Given the description of an element on the screen output the (x, y) to click on. 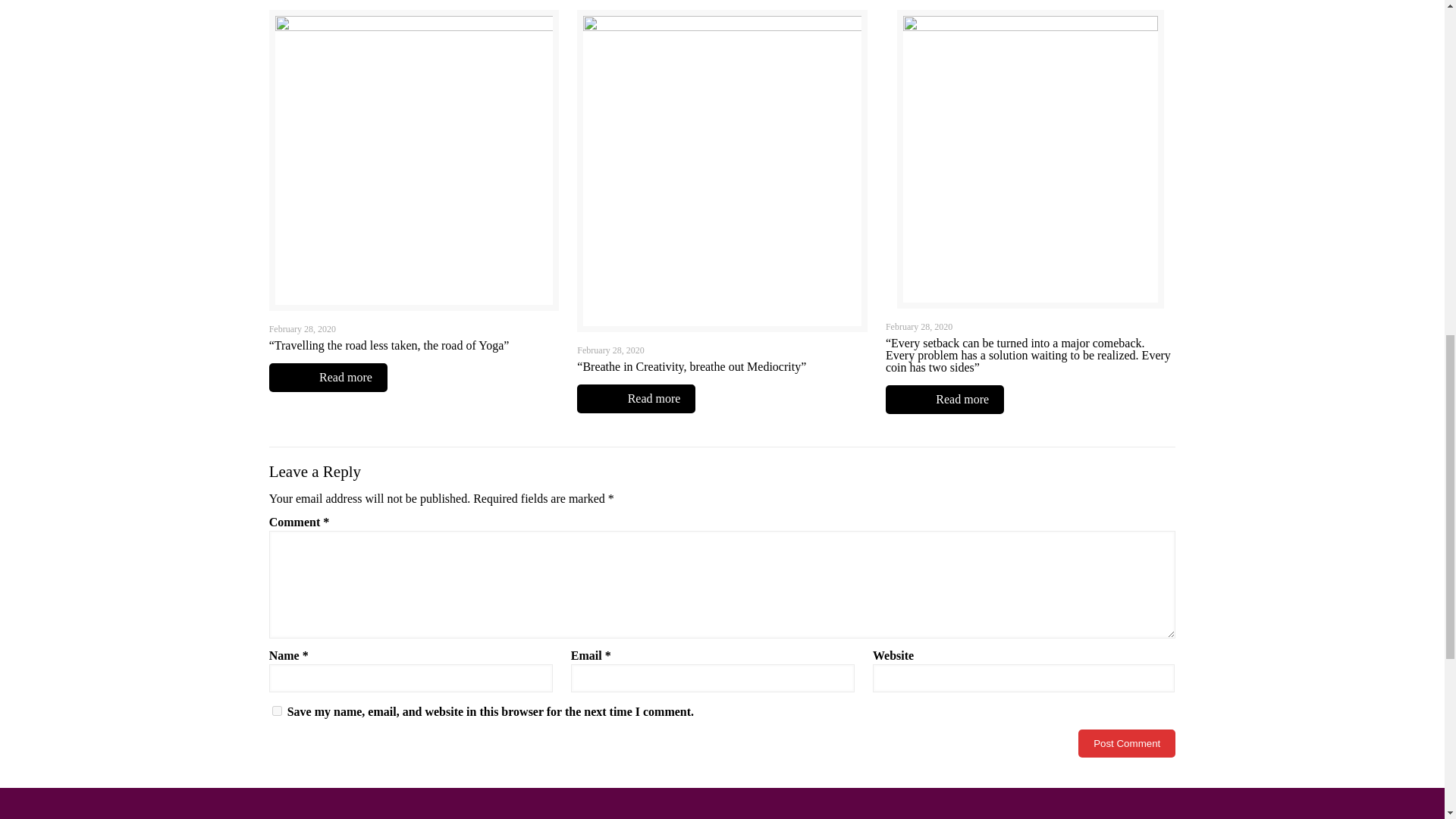
Post Comment (1126, 743)
yes (277, 710)
